Given the description of an element on the screen output the (x, y) to click on. 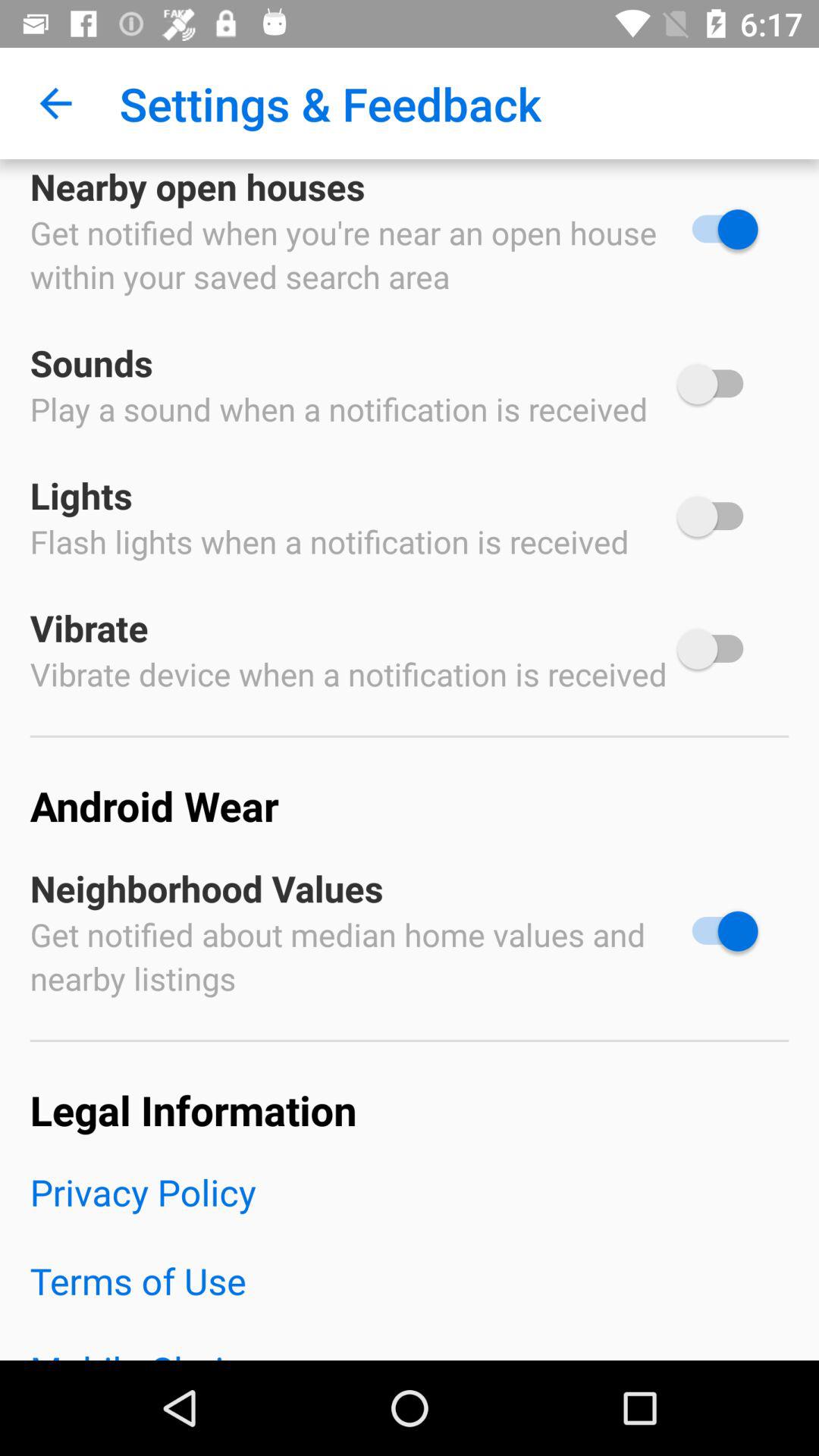
toggle autoplay option (717, 229)
